Given the description of an element on the screen output the (x, y) to click on. 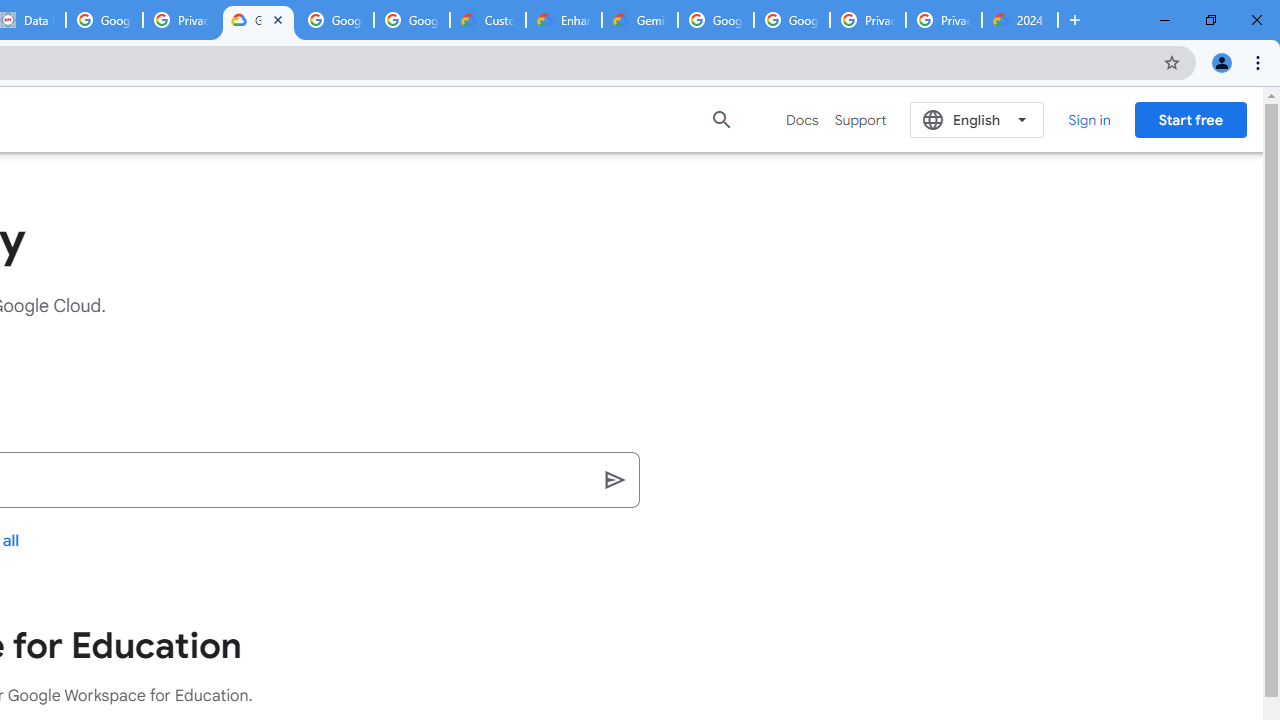
Enhanced Support | Google Cloud (563, 20)
Support (860, 119)
Start free (1190, 119)
Docs (802, 119)
